Given the description of an element on the screen output the (x, y) to click on. 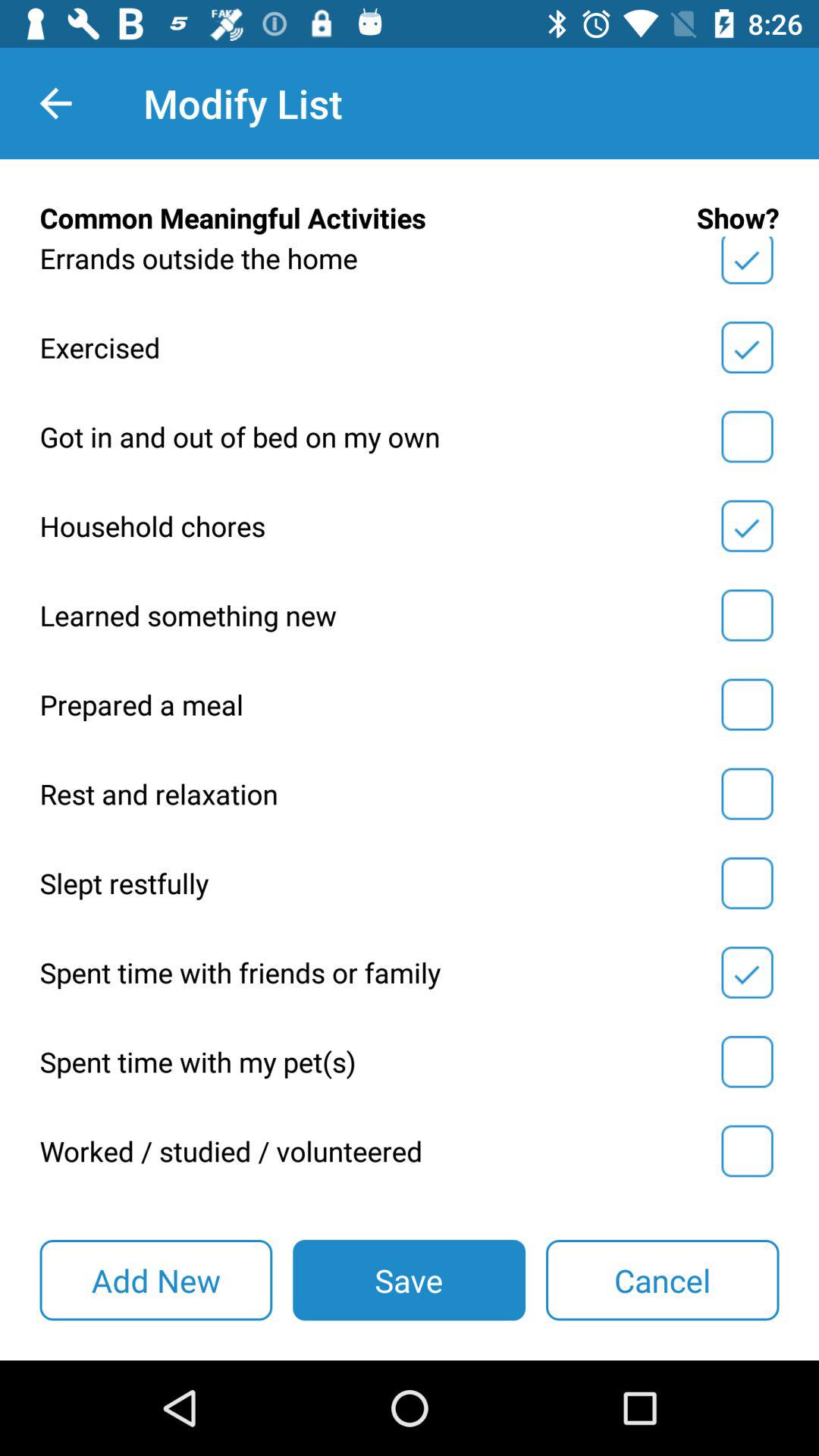
select checkbox (747, 615)
